Given the description of an element on the screen output the (x, y) to click on. 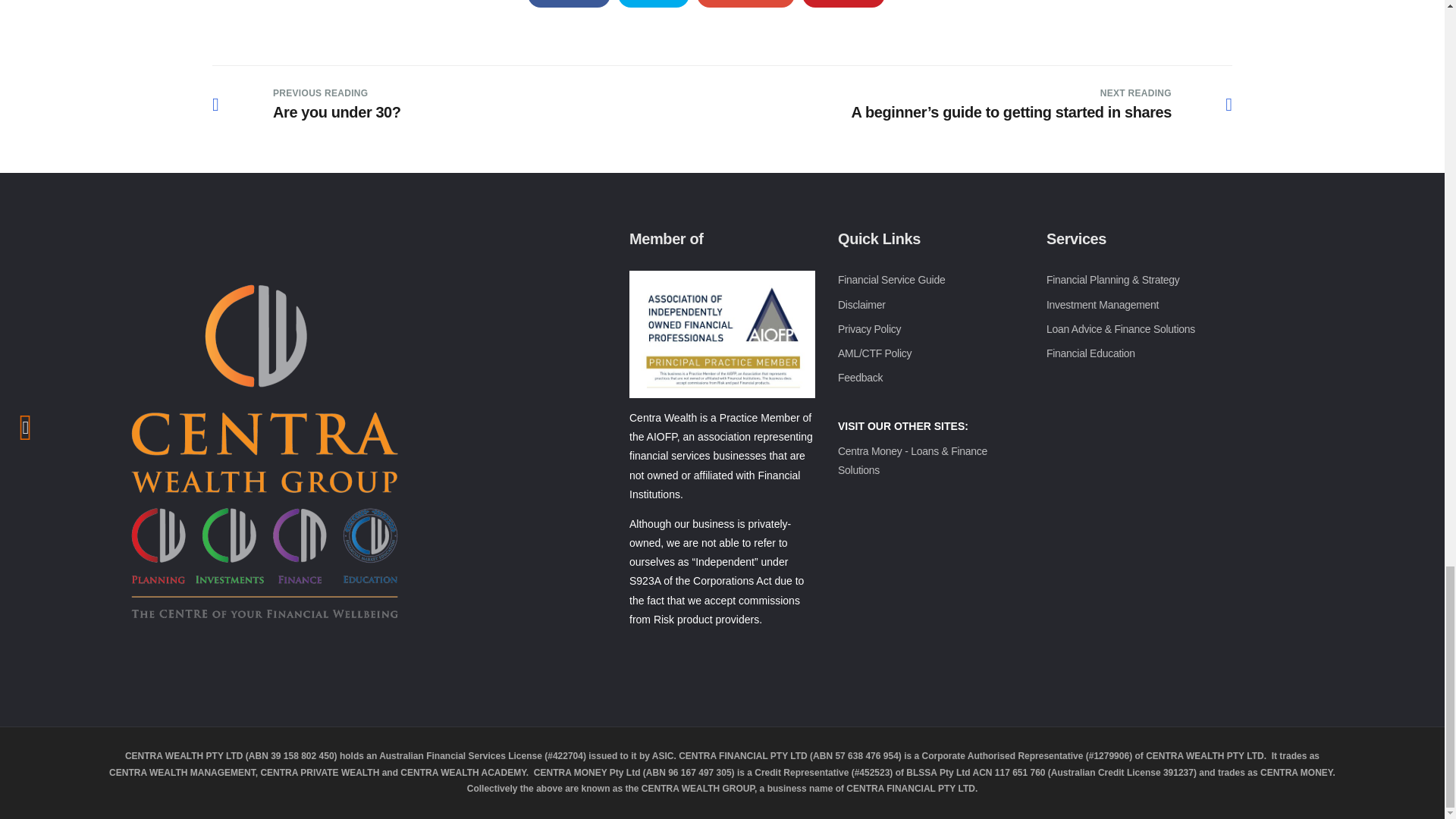
Pinterest (842, 3)
Google Plus (745, 3)
Facebook (568, 3)
Twitter (652, 3)
